Given the description of an element on the screen output the (x, y) to click on. 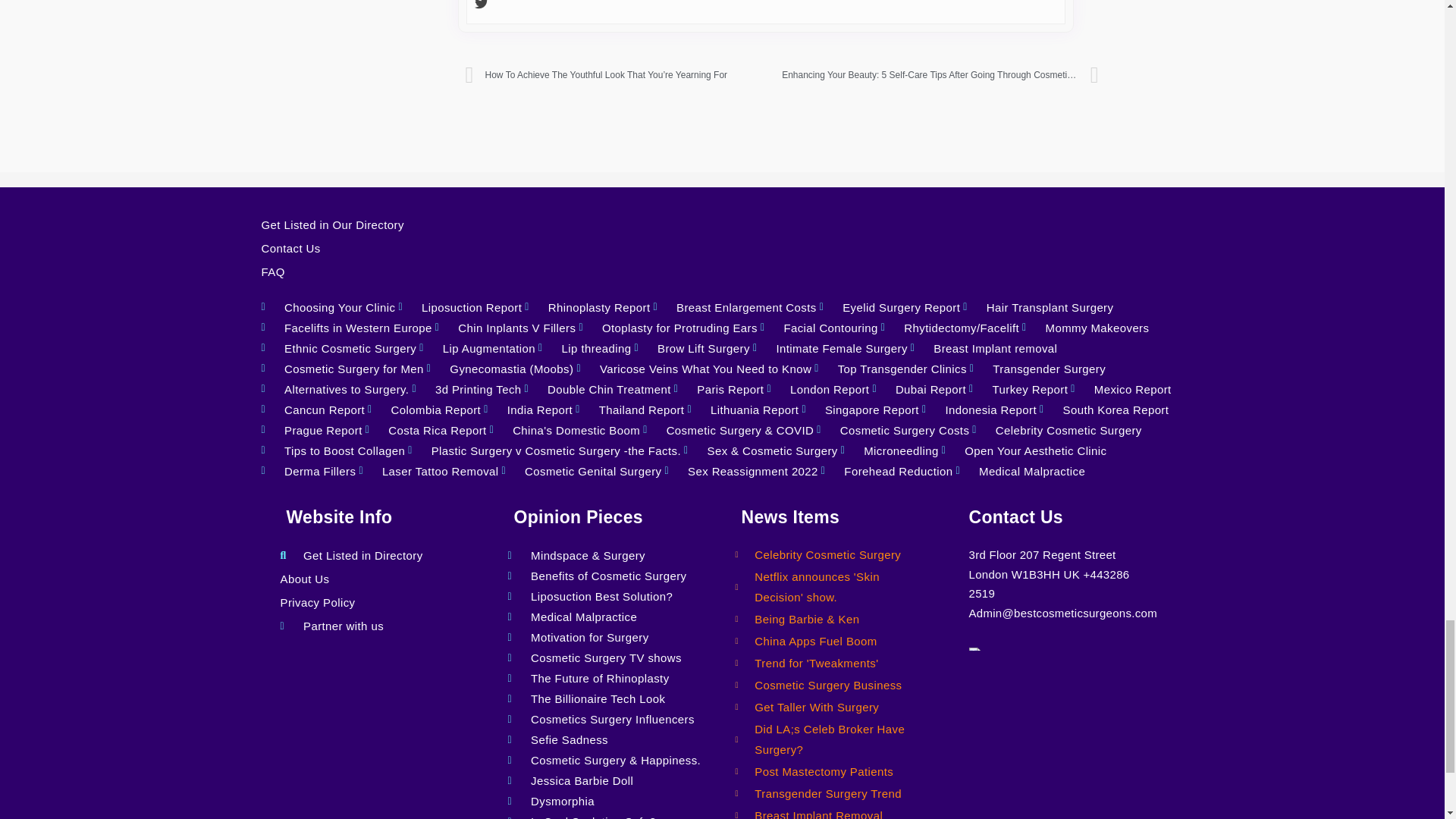
Choosing Your Clinic (327, 307)
Chin Inplants V Fillers (505, 327)
Eyelid Surgery Report (889, 307)
Facial Contouring (818, 327)
FAQ (718, 271)
Contact Us (718, 248)
Otoplasty for Protruding Ears (667, 327)
Hair Transplant Surgery (1037, 307)
Breast Enlargement Costs (733, 307)
Liposuction Report (459, 307)
Facelifts in Western Europe (345, 327)
Rhinoplasty Report (586, 307)
Get Listed in Our Directory (718, 224)
Twitter (480, 6)
